Given the description of an element on the screen output the (x, y) to click on. 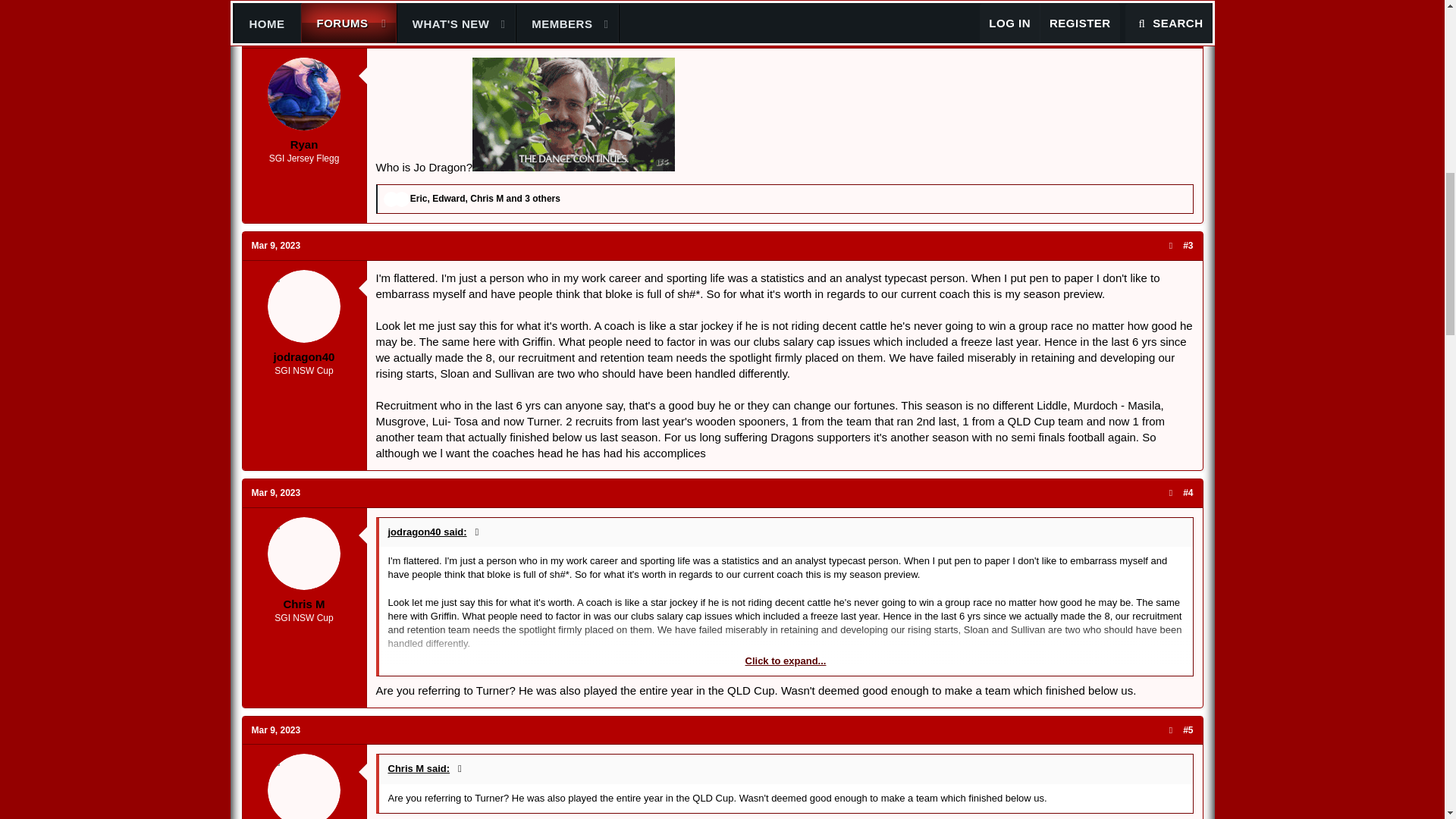
Mar 9, 2023 at 10:15 AM (276, 245)
Haha (401, 199)
Mar 9, 2023 at 10:32 AM (276, 492)
ezgif.com-resize.gif (573, 114)
Mar 8, 2023 at 10:54 PM (276, 33)
Mar 9, 2023 at 10:41 AM (276, 729)
Like (391, 199)
